Given the description of an element on the screen output the (x, y) to click on. 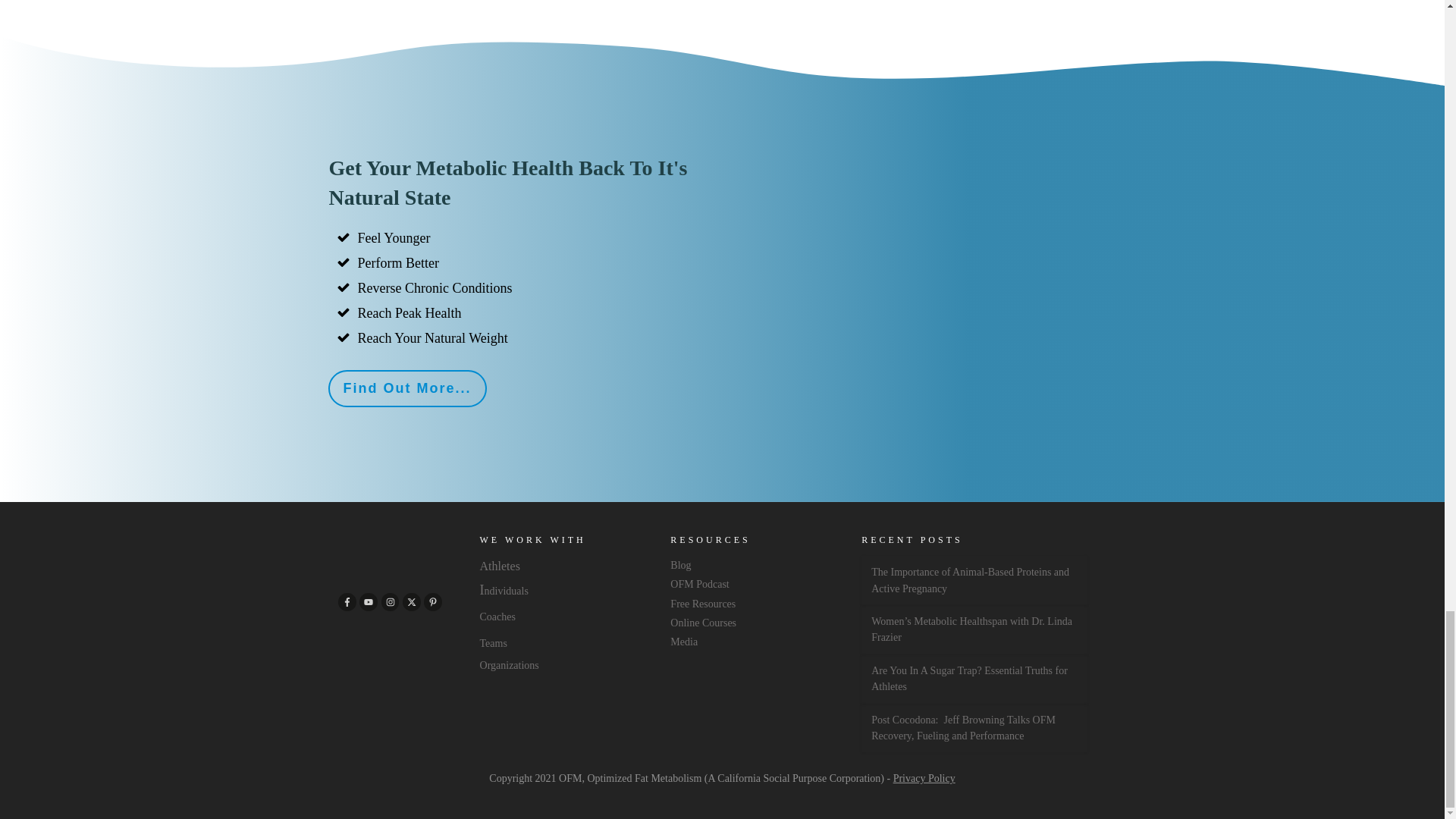
met-reset (922, 231)
ofm-logo-transparent (390, 553)
